Given the description of an element on the screen output the (x, y) to click on. 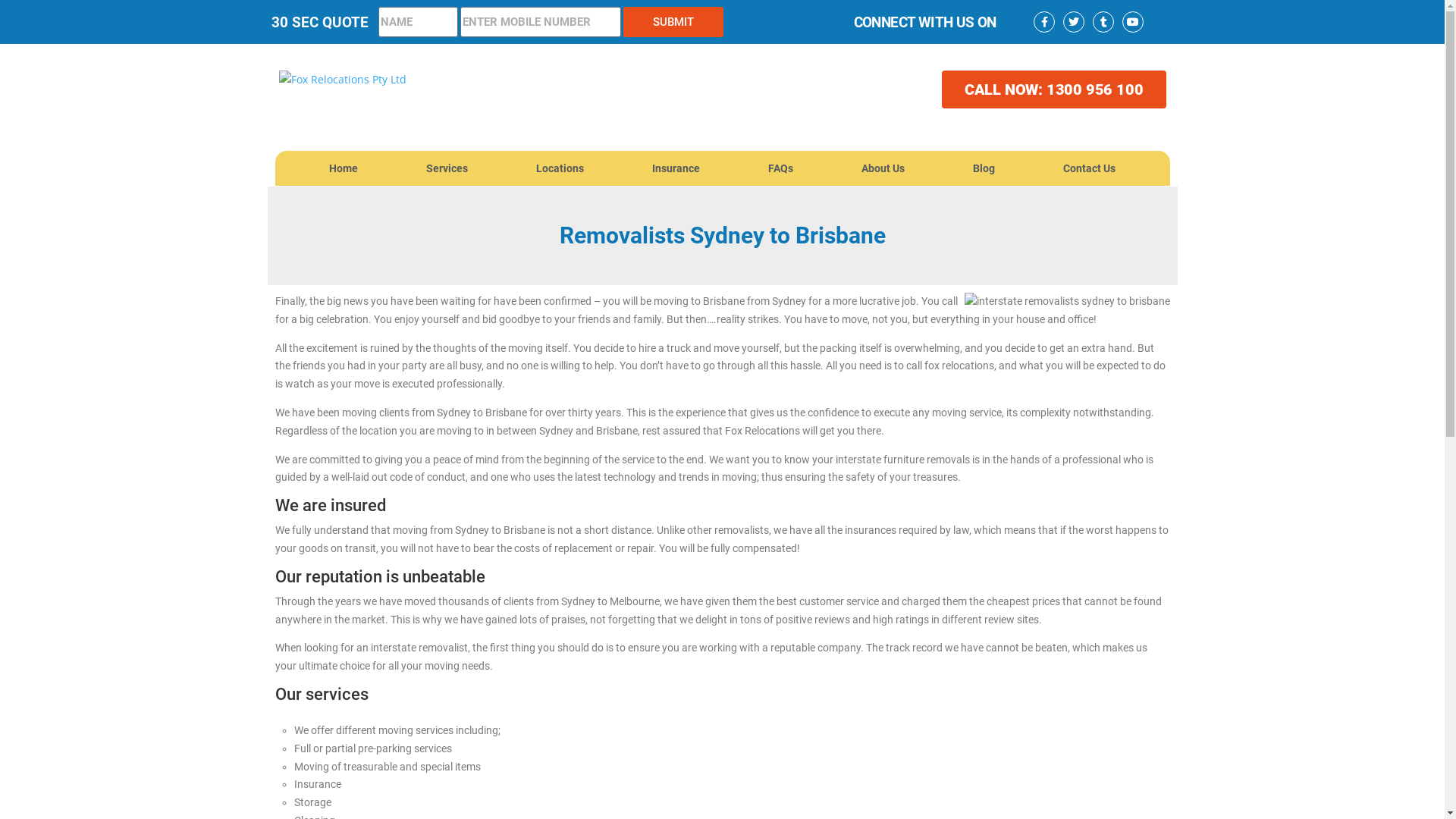
Locations Element type: text (559, 167)
Services Element type: text (446, 167)
Insurance Element type: text (675, 167)
Home Element type: text (343, 167)
Blog Element type: text (983, 167)
SUBMIT Element type: text (673, 21)
FAQs Element type: text (780, 167)
Contact Us Element type: text (1089, 167)
About Us Element type: text (882, 167)
CALL NOW: 1300 956 100 Element type: text (1053, 89)
